Given the description of an element on the screen output the (x, y) to click on. 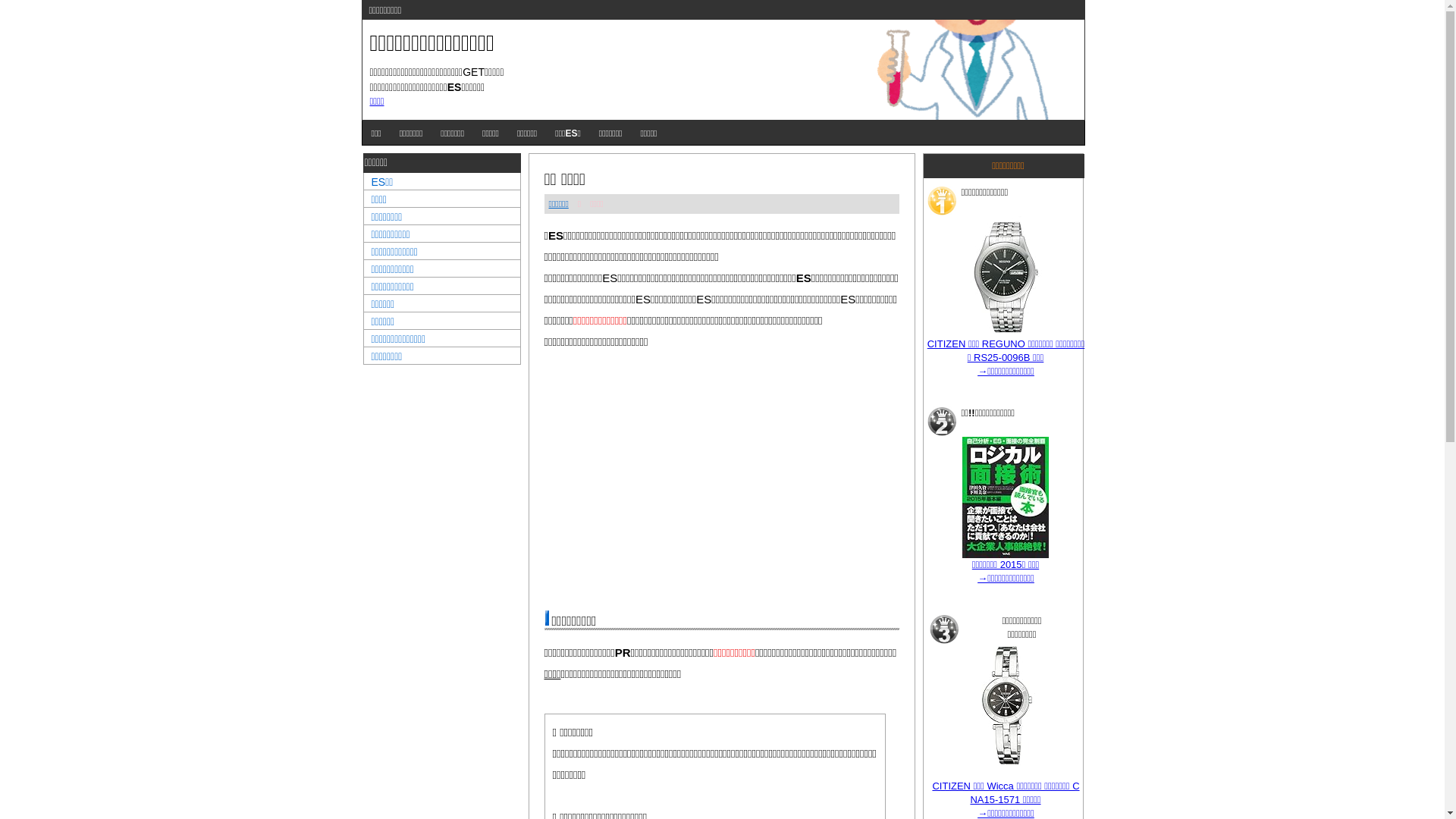
Advertisement Element type: hover (721, 479)
